Given the description of an element on the screen output the (x, y) to click on. 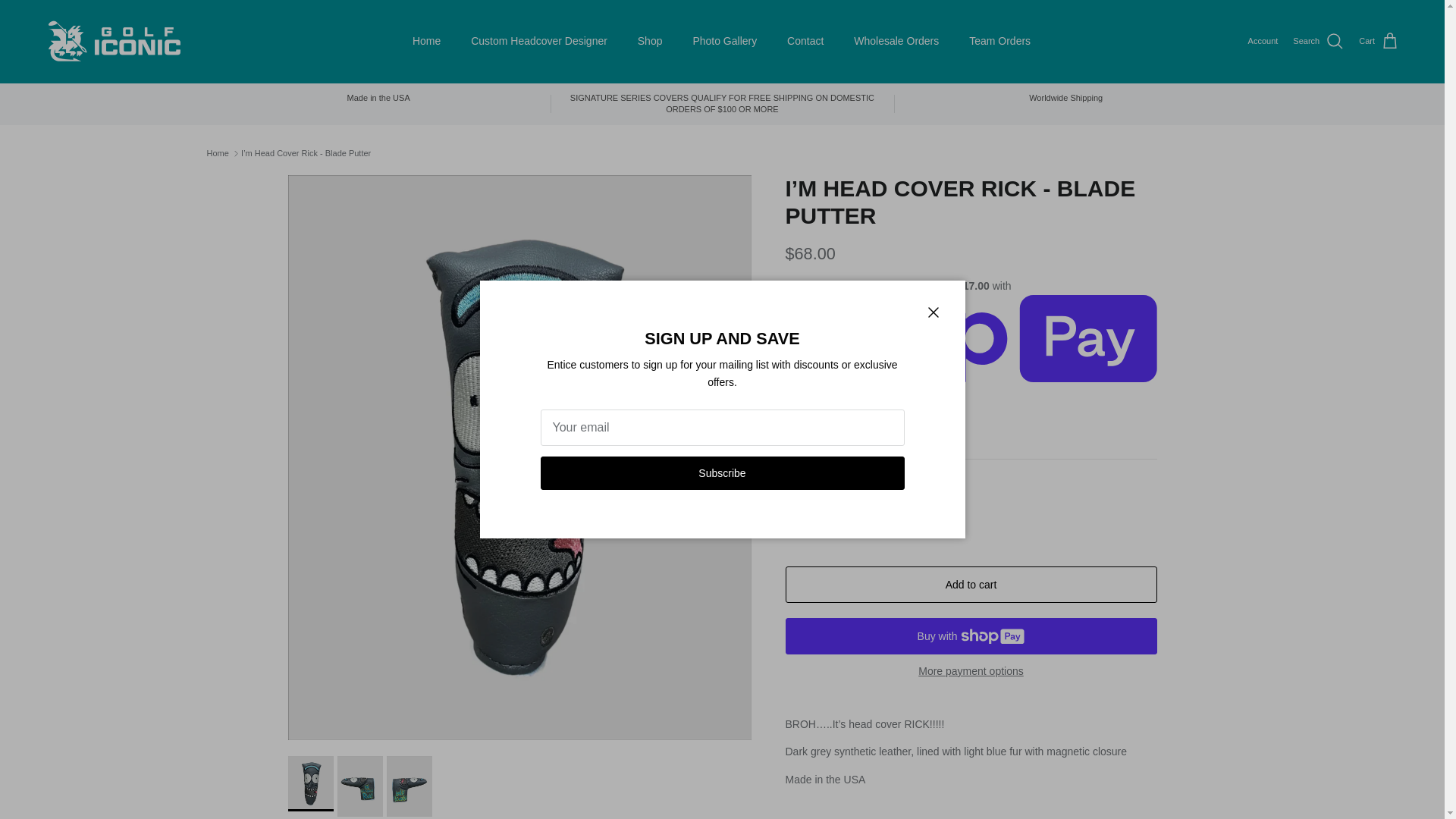
Custom Headcover Designer (539, 41)
Search (1317, 41)
Account (1262, 41)
Home (426, 41)
Cart (1378, 41)
1 (847, 517)
Contact (805, 41)
Shop (650, 41)
Golf Iconic (113, 41)
Team Orders (999, 41)
Photo Gallery (724, 41)
Wholesale Orders (896, 41)
